Given the description of an element on the screen output the (x, y) to click on. 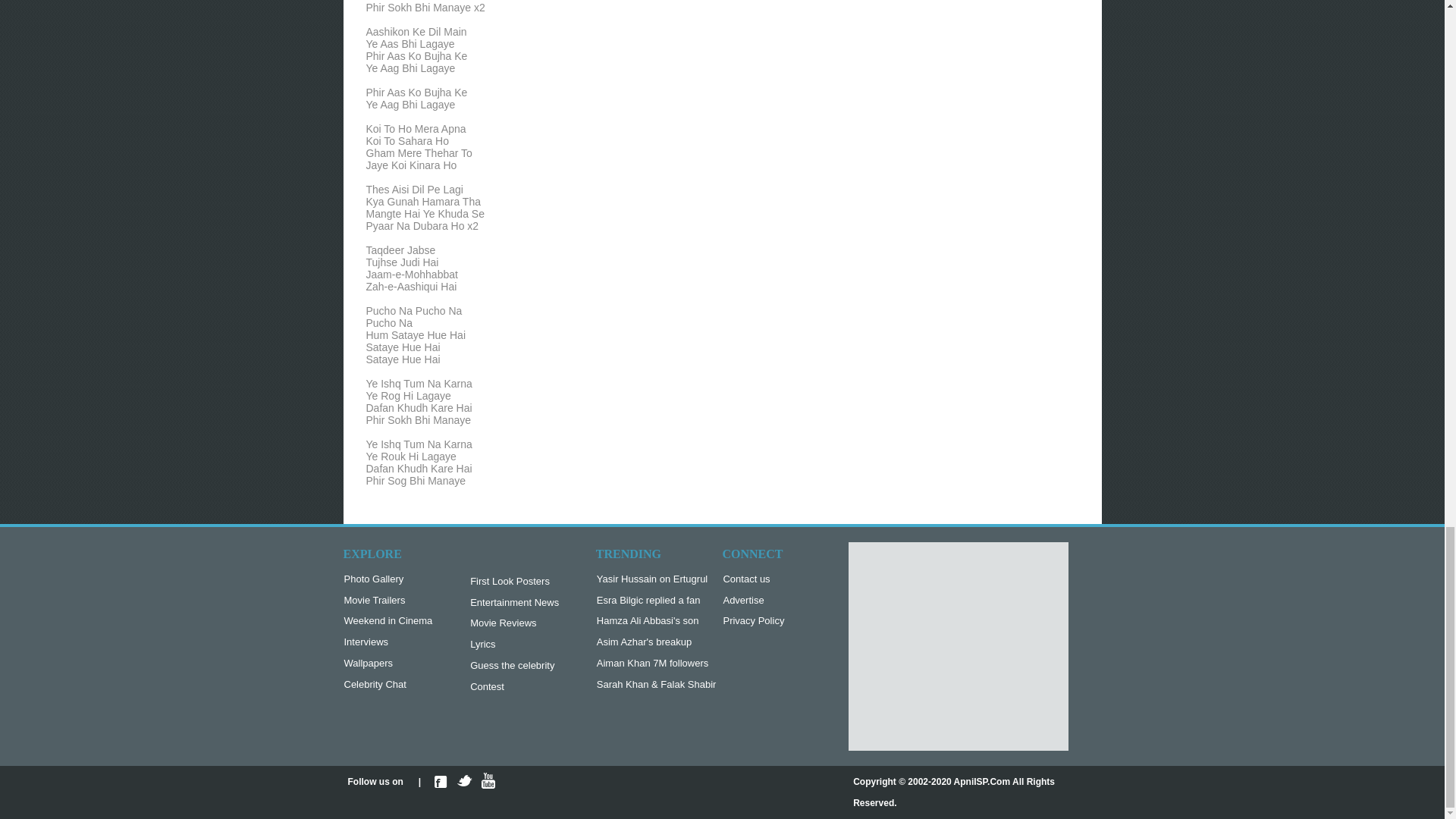
Asim Azhar's breakup (656, 642)
Guess the celebrity (514, 666)
Esra Bilgic replied a fan (656, 600)
Yasir Hussain on Ertugrul (656, 579)
Contest (514, 687)
Hamza Ali Abbasi's son (656, 621)
Aiman Khan 7M followers (656, 663)
Movie Trailers (387, 600)
Interviews (387, 642)
Entertainment News (514, 602)
Photo Gallery (387, 579)
Lyrics (514, 644)
Movie Reviews (514, 623)
Weekend in Cinema (387, 621)
First Look Posters (514, 581)
